Given the description of an element on the screen output the (x, y) to click on. 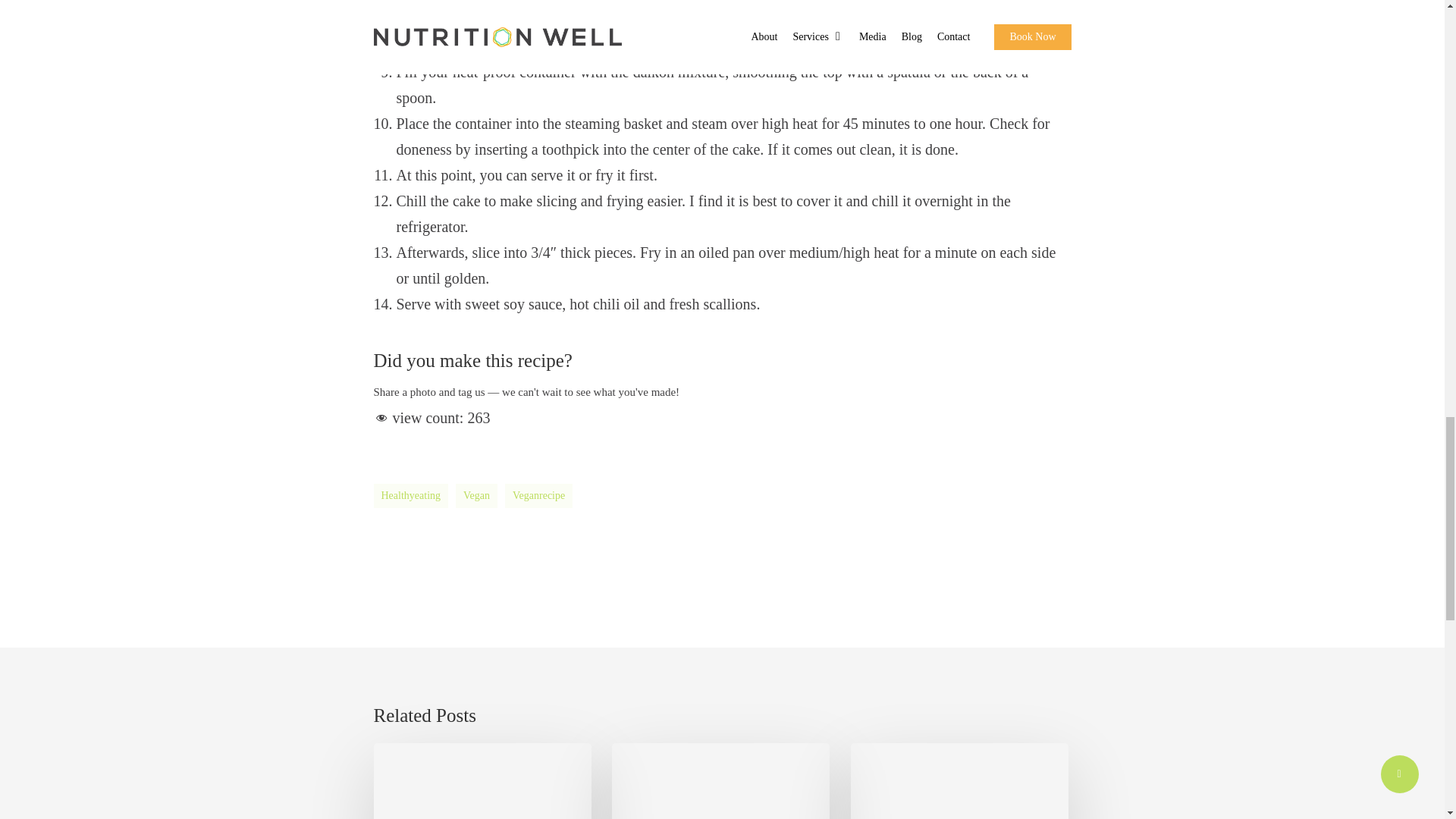
Veganrecipe (538, 495)
Healthyeating (410, 495)
Vegan (476, 495)
